Given the description of an element on the screen output the (x, y) to click on. 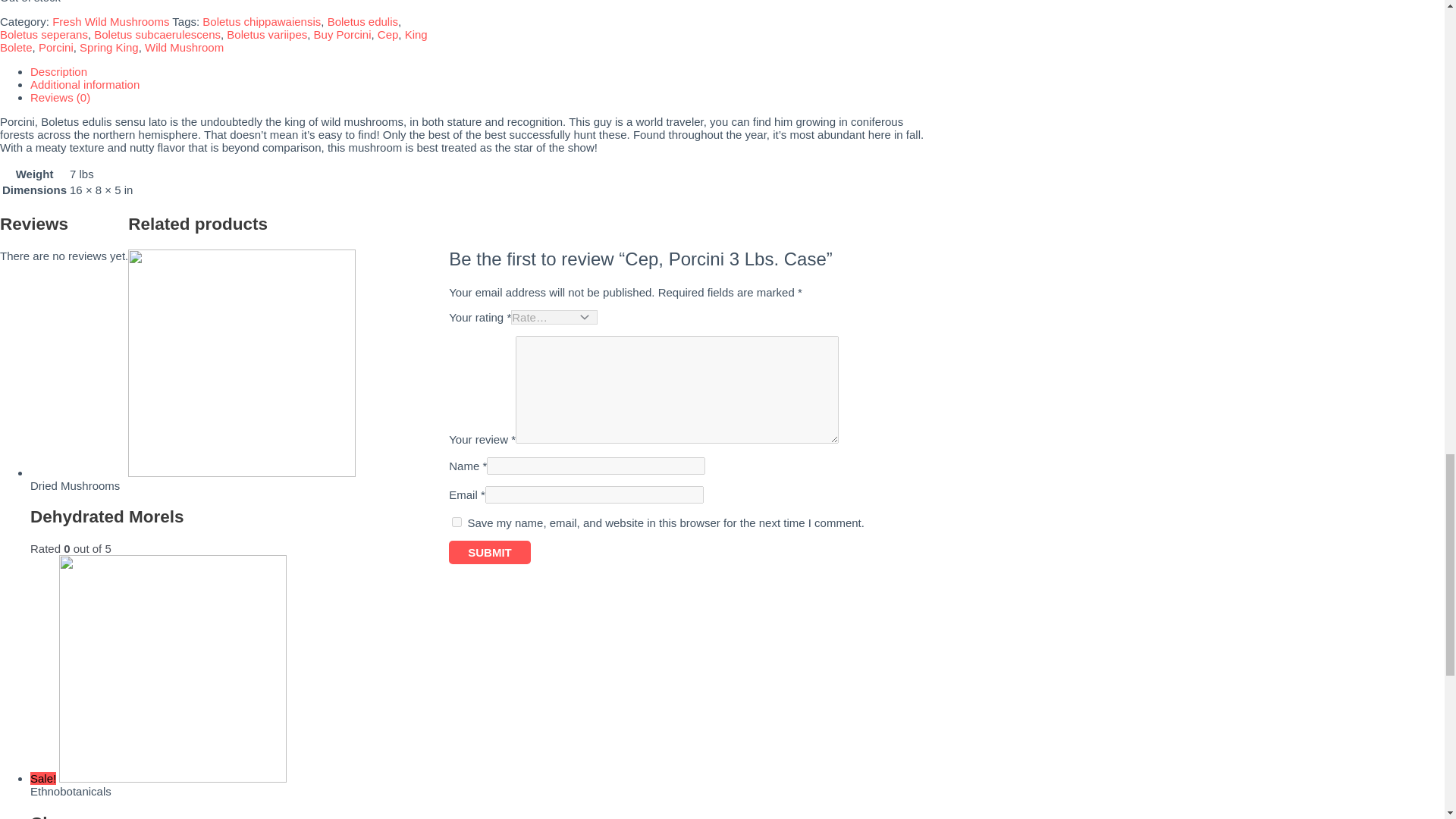
Boletus seperans (43, 33)
Submit (489, 552)
Submit (489, 552)
Cep (387, 33)
Boletus chippawaiensis (261, 21)
Buy Porcini (342, 33)
Dehydrated Morels (485, 530)
King Bolete (214, 40)
Fresh Wild Mushrooms (110, 21)
Description (58, 71)
Additional information (84, 83)
Porcini (56, 47)
Boletus variipes (267, 33)
Wild Mushroom (184, 47)
